Given the description of an element on the screen output the (x, y) to click on. 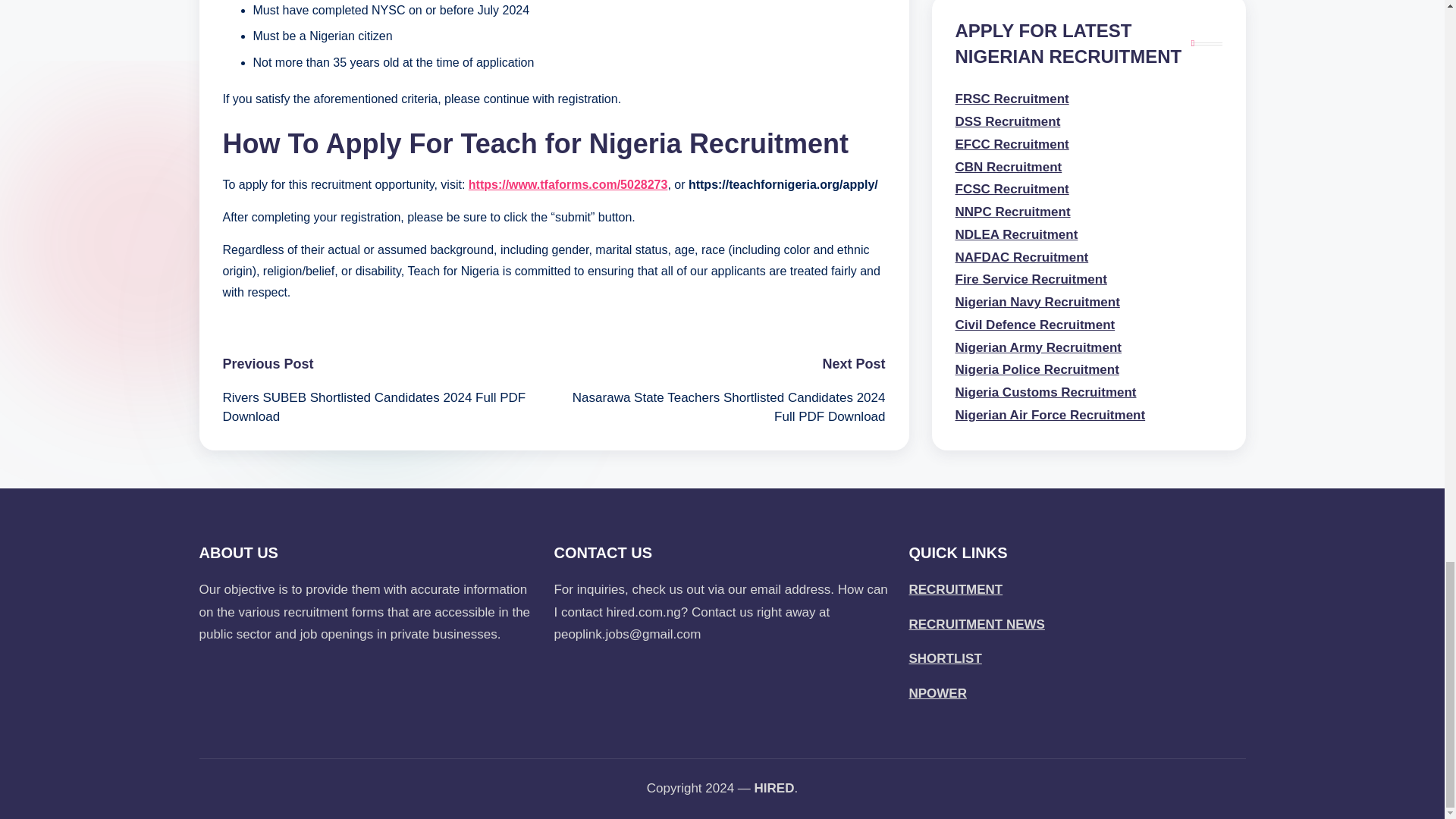
Rivers SUBEB Shortlisted Candidates 2024 Full PDF Download (388, 407)
